Given the description of an element on the screen output the (x, y) to click on. 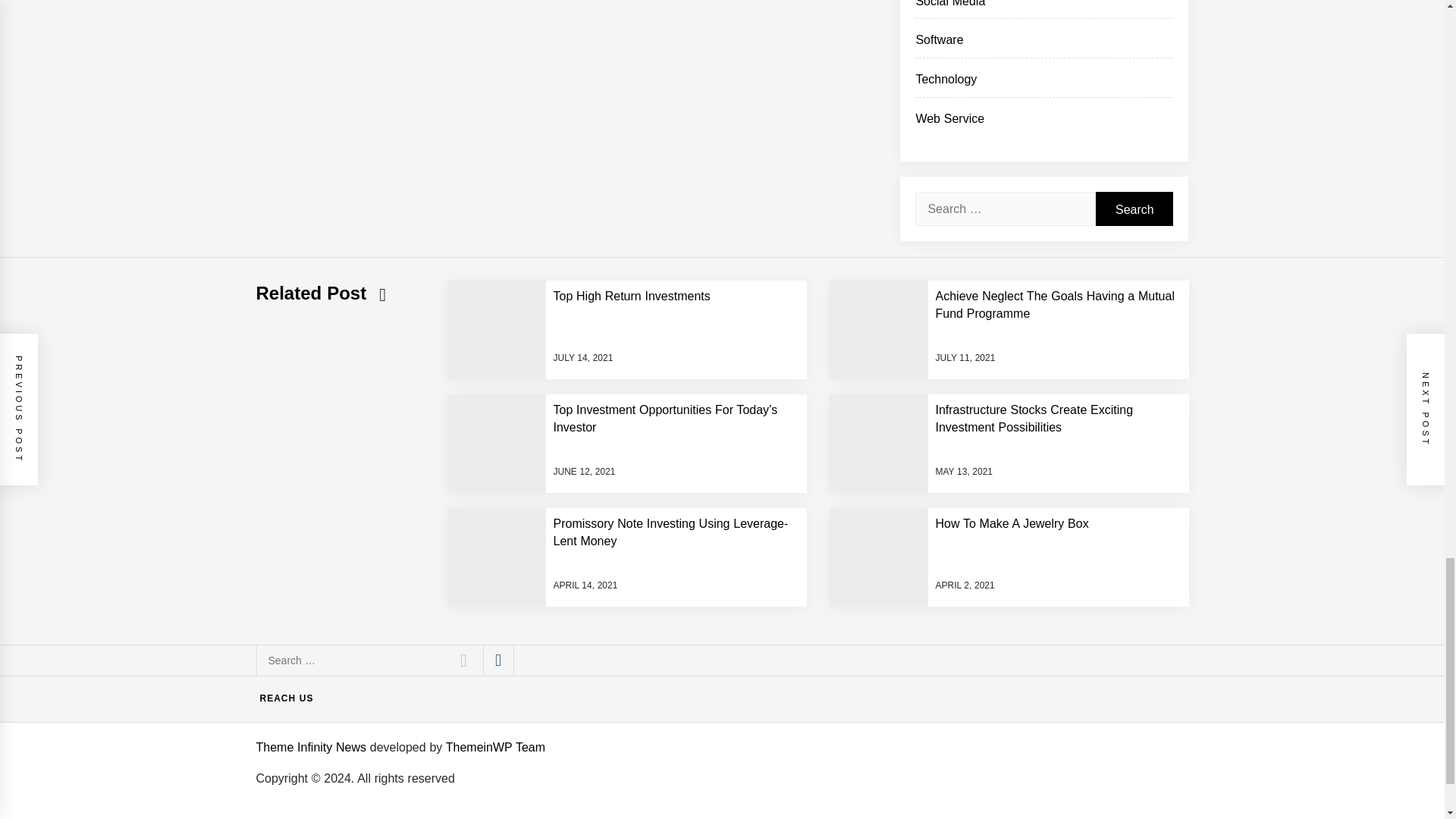
Search (1134, 208)
Search (462, 660)
Search (462, 660)
Search (1134, 208)
